Given the description of an element on the screen output the (x, y) to click on. 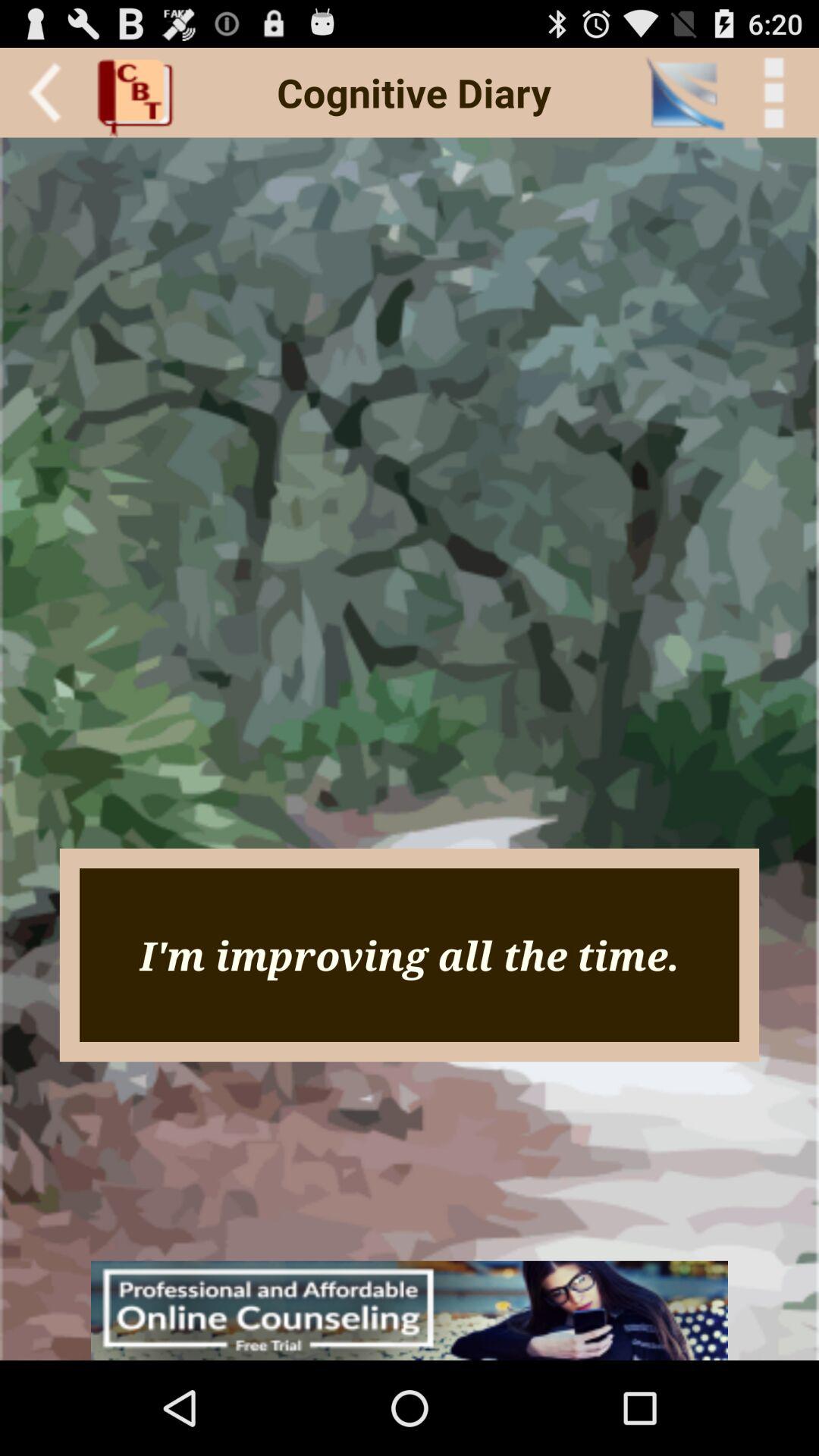
tap item to the right of cognitive diary item (684, 92)
